Given the description of an element on the screen output the (x, y) to click on. 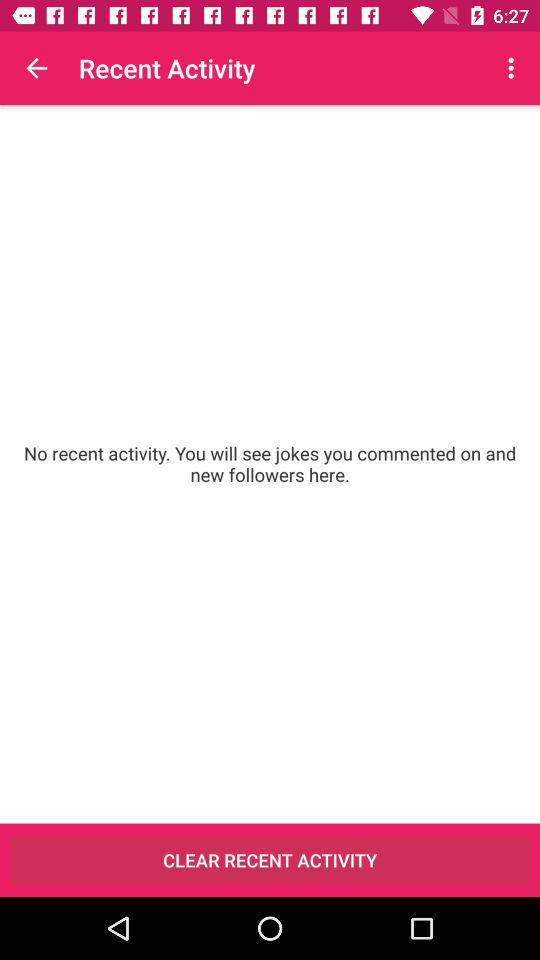
tap the item to the right of recent activity app (513, 67)
